Given the description of an element on the screen output the (x, y) to click on. 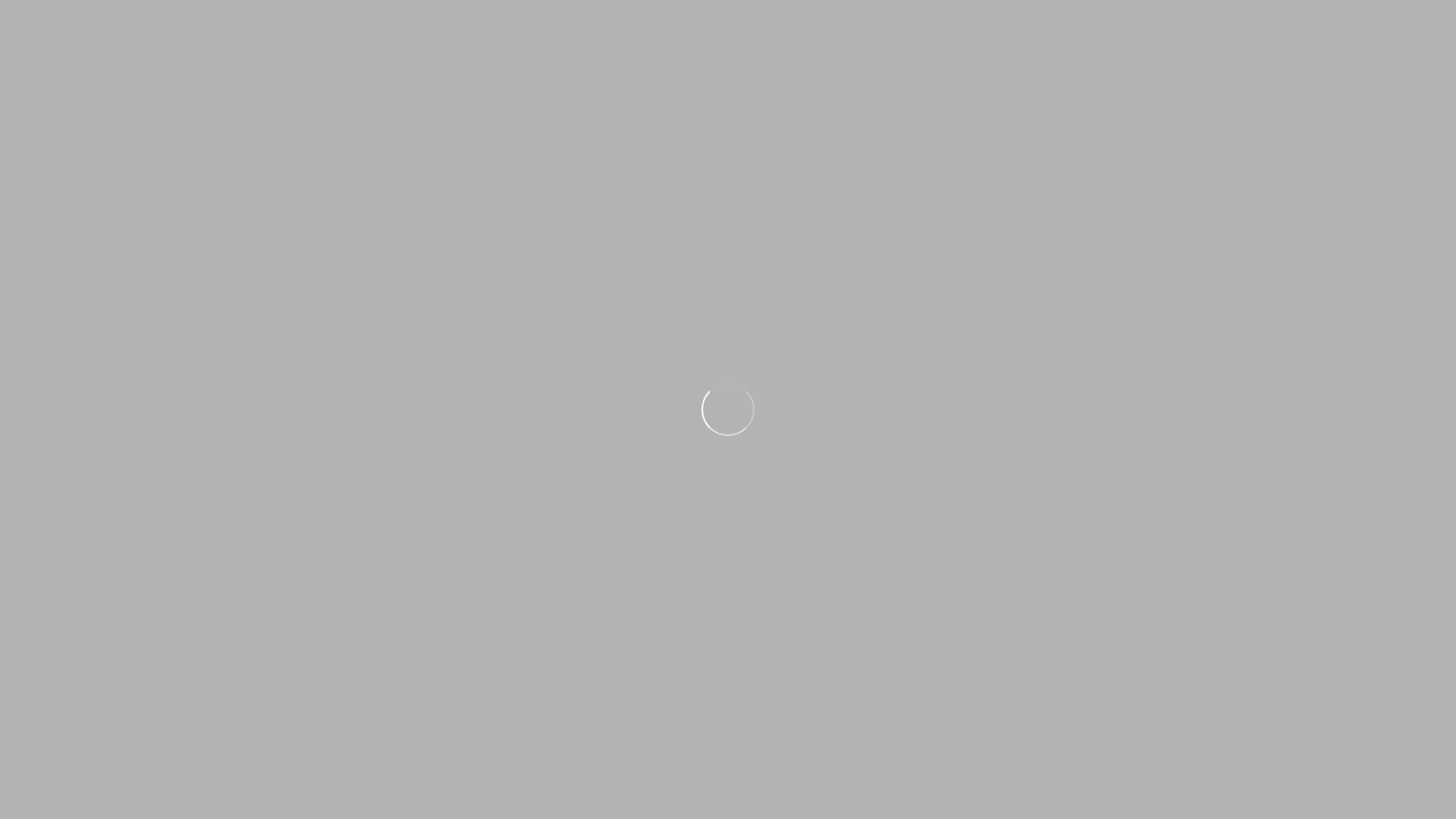
Send Element type: text (113, 341)
